Given the description of an element on the screen output the (x, y) to click on. 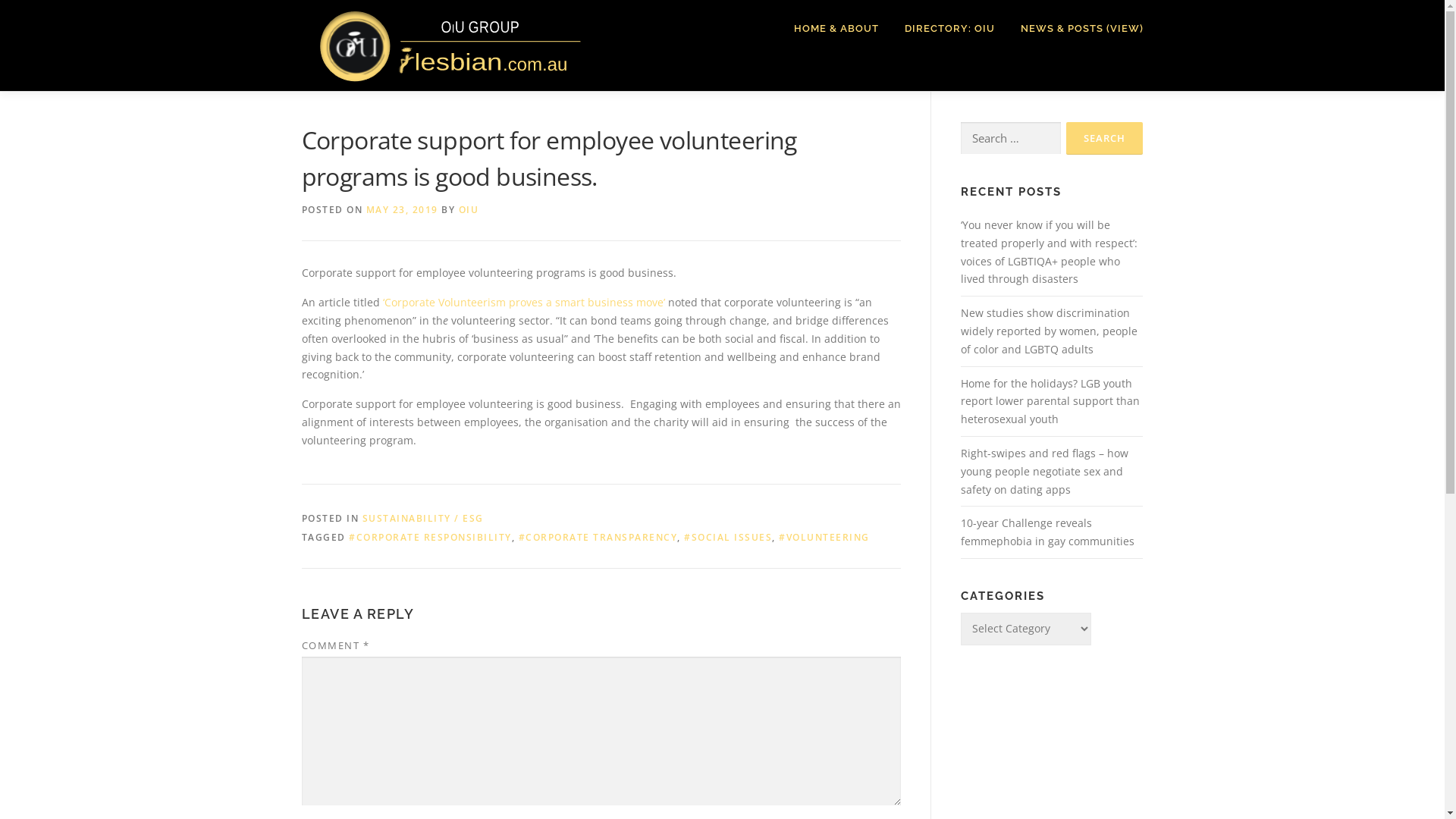
OIU Element type: text (468, 209)
#CORPORATE TRANSPARENCY Element type: text (597, 536)
#CORPORATE RESPONSIBILITY Element type: text (429, 536)
DIRECTORY: OIU Element type: text (949, 28)
#VOLUNTEERING Element type: text (823, 536)
NEWS & POSTS (VIEW) Element type: text (1074, 28)
Search Element type: text (1104, 138)
SUSTAINABILITY / ESG Element type: text (422, 517)
10-year Challenge reveals femmephobia in gay communities Element type: text (1046, 531)
#SOCIAL ISSUES Element type: text (727, 536)
HOME & ABOUT Element type: text (836, 28)
MAY 23, 2019 Element type: text (401, 209)
